Given the description of an element on the screen output the (x, y) to click on. 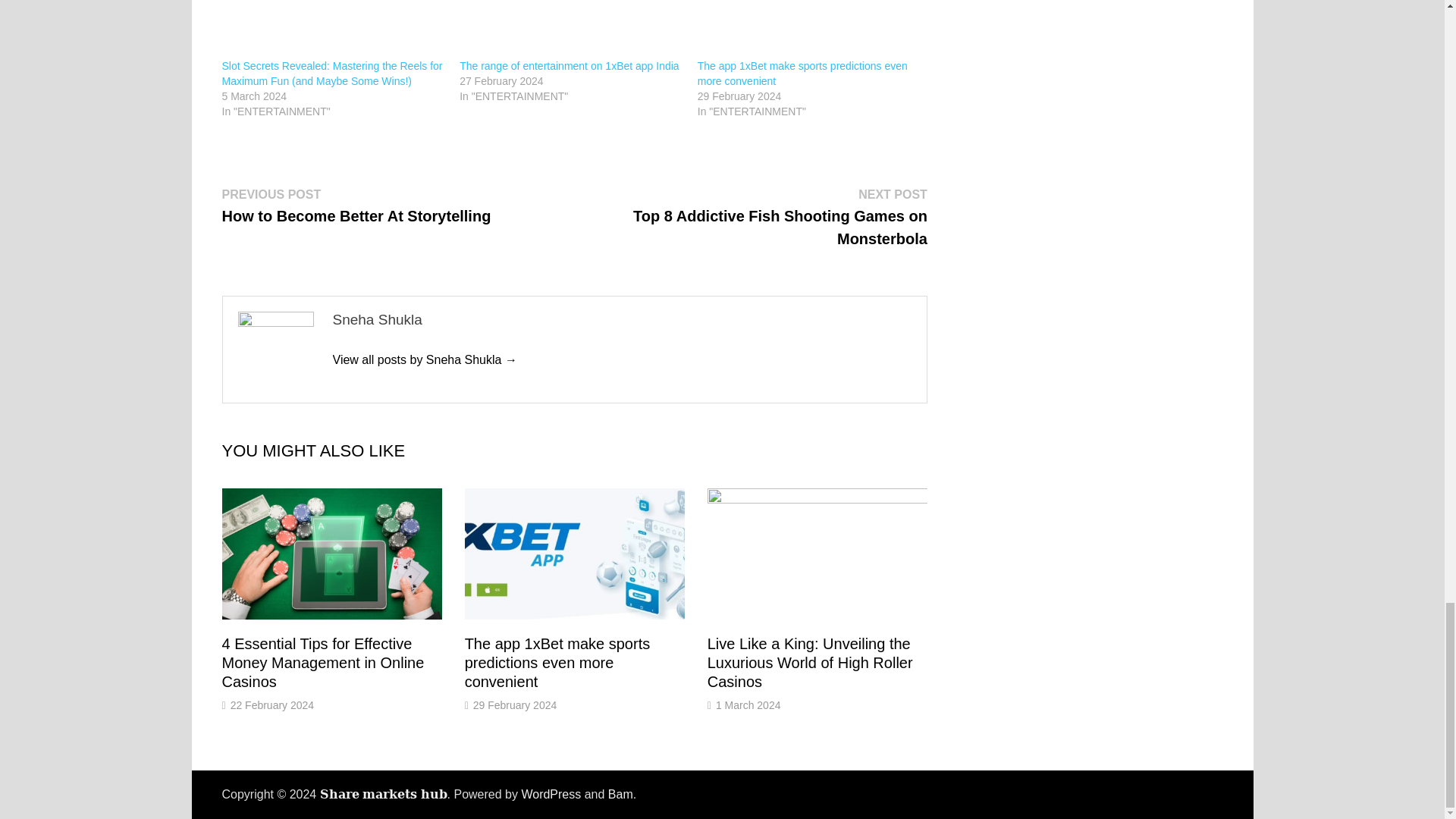
Sneha Shukla (423, 359)
The app 1xBet make sports predictions even more convenient (808, 29)
The range of entertainment on 1xBet app India (569, 65)
The app 1xBet make sports predictions even more convenient (802, 72)
The app 1xBet make sports predictions even more convenient (557, 662)
The range of entertainment on 1xBet app India (571, 29)
